Given the description of an element on the screen output the (x, y) to click on. 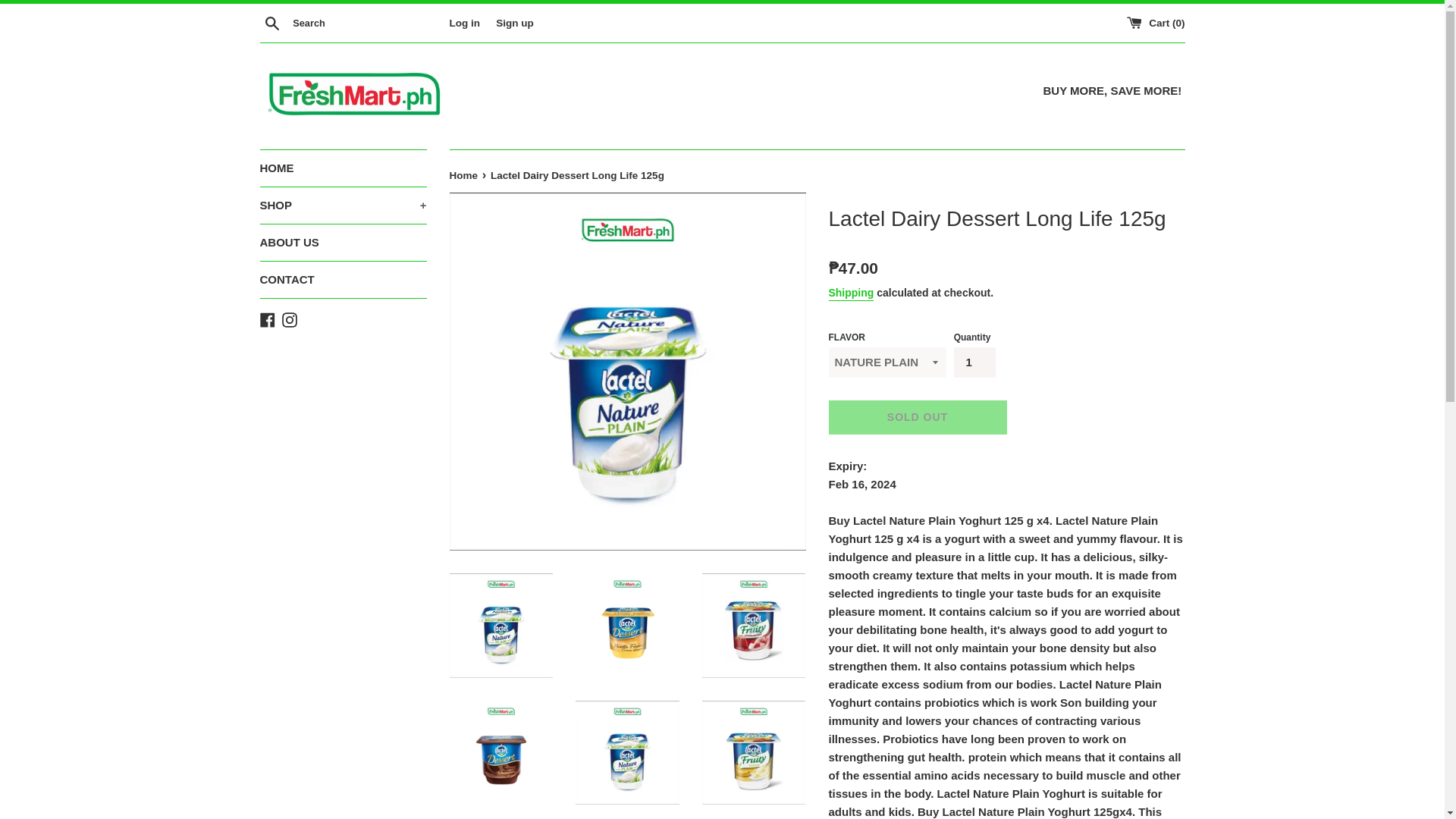
Fresh Mart on Instagram (289, 318)
Log in (464, 21)
1 (974, 362)
Search (271, 21)
Fresh Mart on Facebook (267, 318)
Back to the frontpage (464, 174)
HOME (342, 167)
Sign up (515, 21)
